Given the description of an element on the screen output the (x, y) to click on. 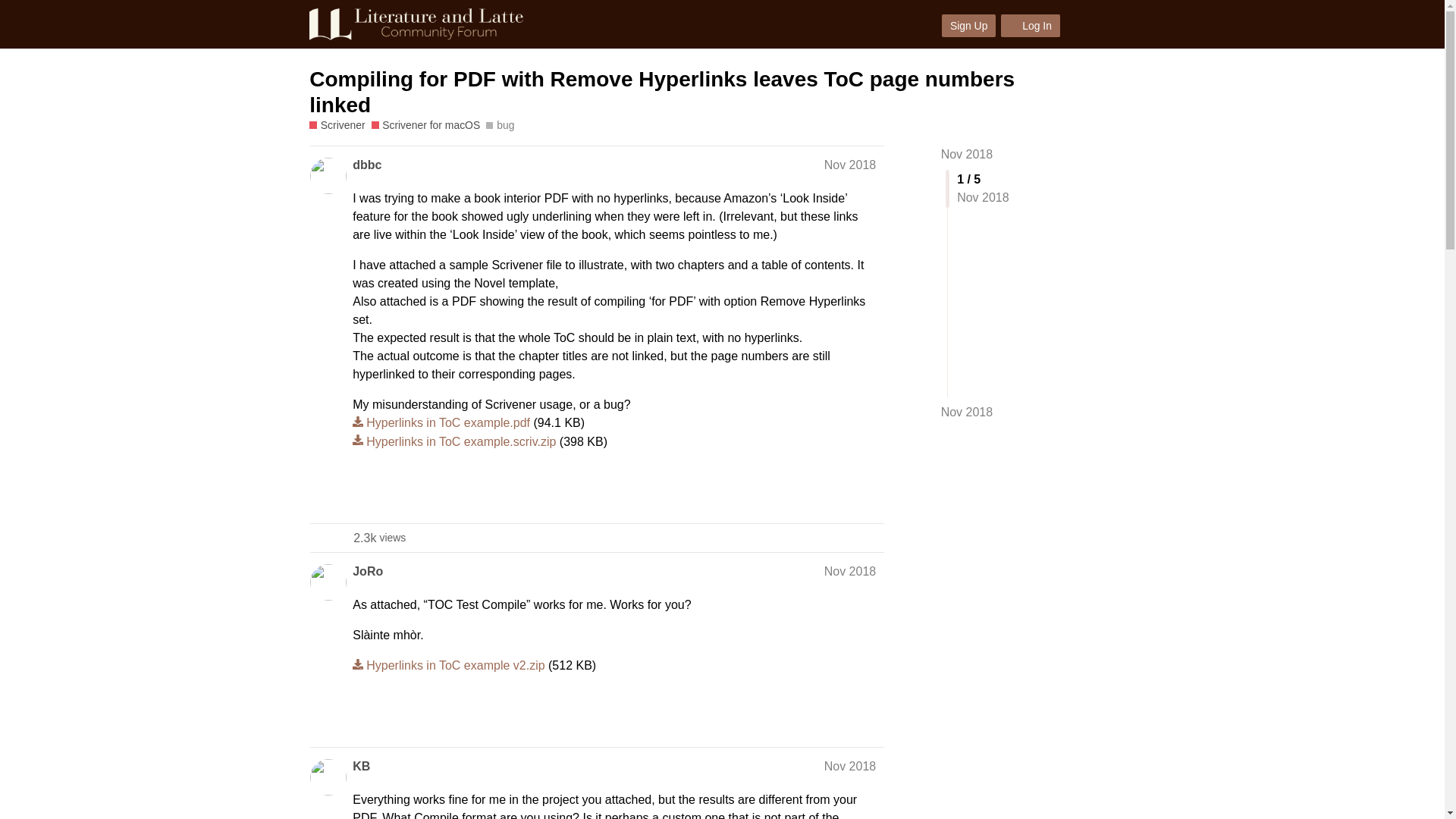
Hyperlinks in ToC example.pdf (440, 422)
Nov 2018 (850, 571)
like this post (835, 493)
Nov 2018 (966, 154)
bug (499, 125)
menu (1117, 23)
JoRo (367, 571)
Nov 2018 (850, 164)
dbbc (366, 165)
copy a link to this post to clipboard (869, 493)
like this post (835, 718)
Sign Up (968, 25)
Search (1082, 23)
Nov 2018 (966, 412)
